Given the description of an element on the screen output the (x, y) to click on. 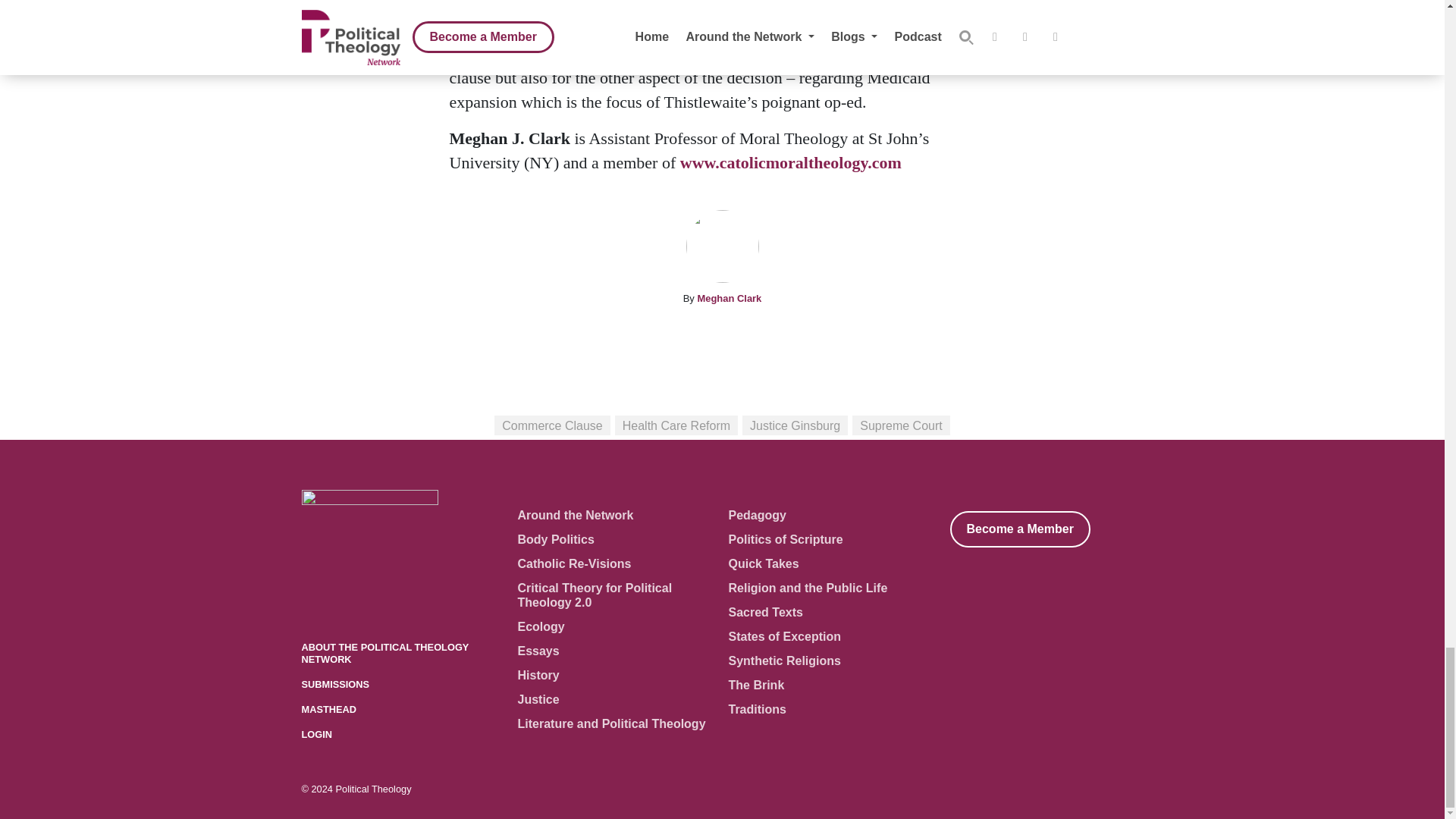
Health Care Reform (676, 424)
SUBMISSIONS (335, 684)
Supreme Court (900, 424)
Justice Ginsburg (794, 424)
Meghan Clark (729, 297)
ABOUT THE POLITICAL THEOLOGY NETWORK (384, 652)
www.catolicmoraltheology.com (790, 162)
View all posts in Commerce Clause (552, 424)
View all posts in health care reform (676, 424)
Commerce Clause (552, 424)
